Given the description of an element on the screen output the (x, y) to click on. 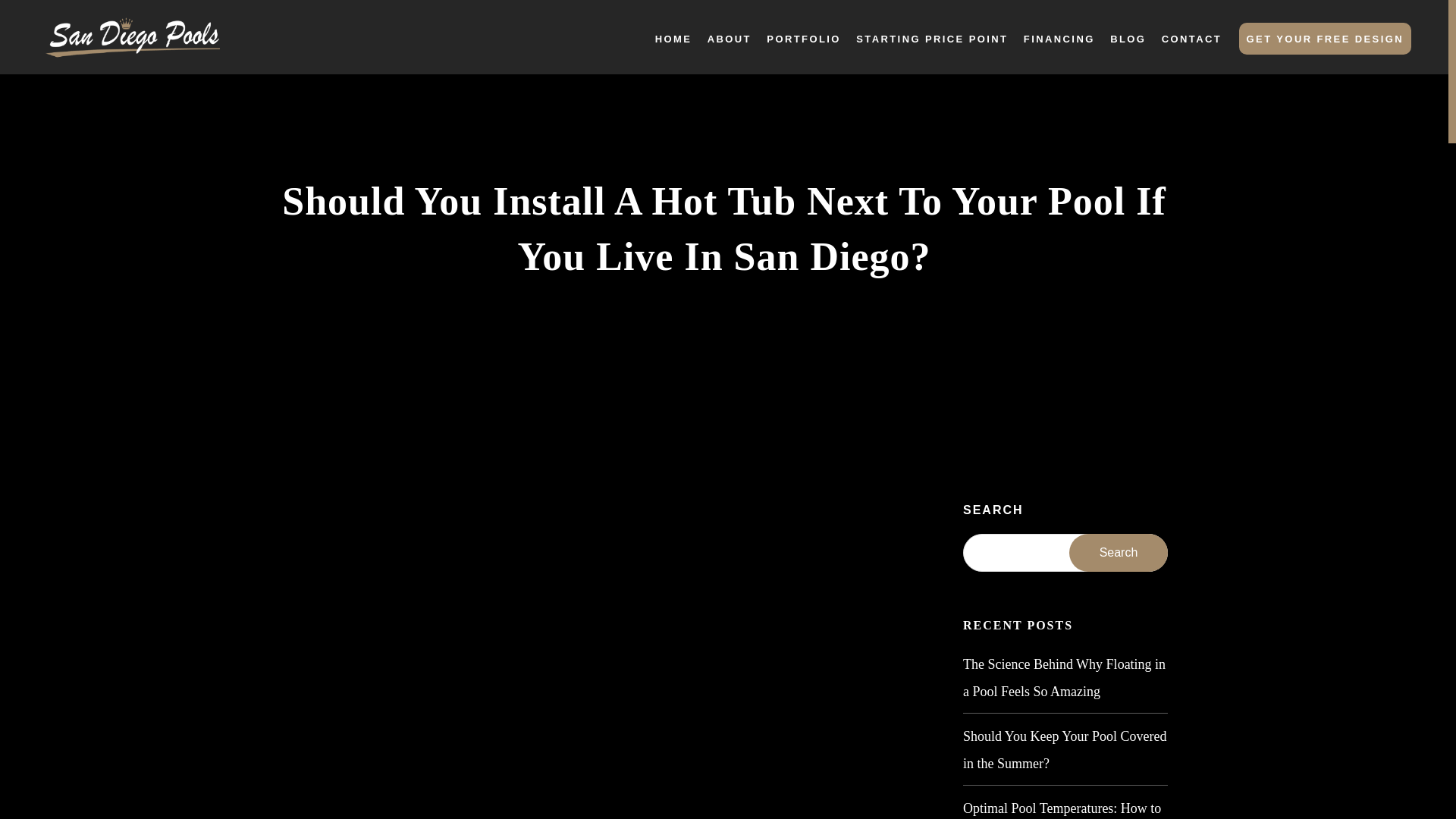
HOME (674, 38)
Search (1117, 552)
GET YOUR FREE DESIGN (1324, 38)
CONTACT (1191, 38)
Should You Keep Your Pool Covered in the Summer? (1064, 749)
ABOUT (729, 38)
FINANCING (1058, 38)
BLOG (1127, 38)
The Science Behind Why Floating in a Pool Feels So Amazing (1064, 677)
STARTING PRICE POINT (931, 38)
PORTFOLIO (803, 38)
